Given the description of an element on the screen output the (x, y) to click on. 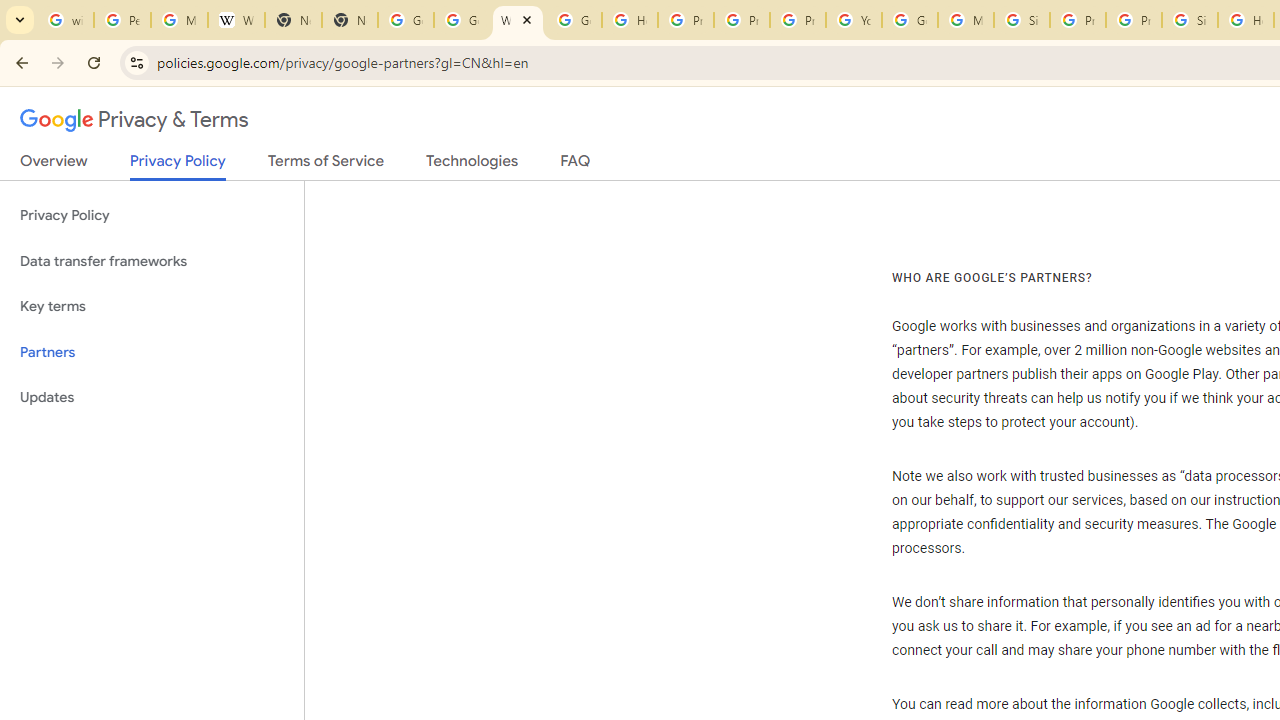
New Tab (349, 20)
Sign in - Google Accounts (1021, 20)
Wikipedia:Edit requests - Wikipedia (235, 20)
Manage your Location History - Google Search Help (179, 20)
Sign in - Google Accounts (1190, 20)
